Given the description of an element on the screen output the (x, y) to click on. 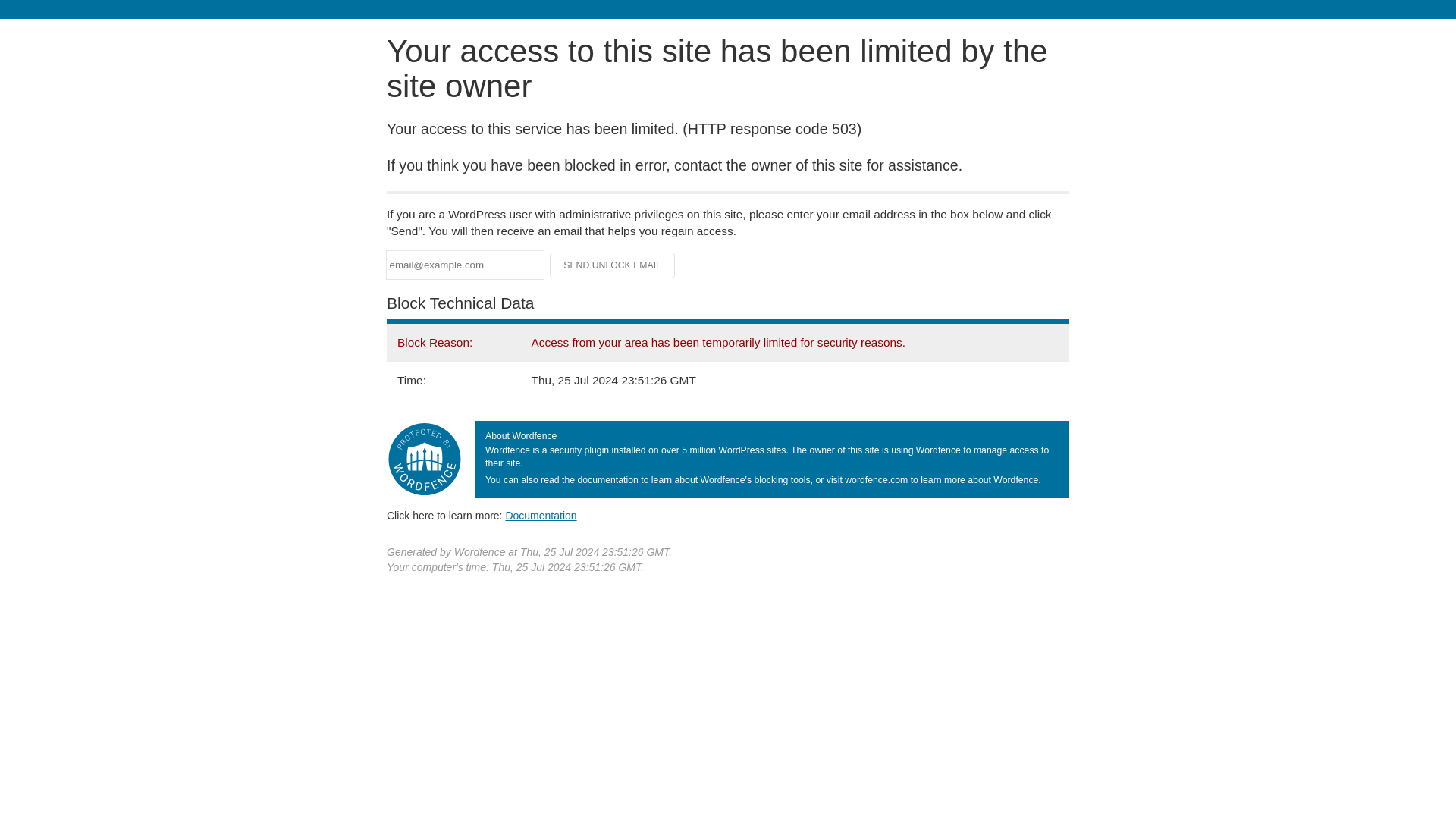
Send Unlock Email (612, 265)
Send Unlock Email (612, 265)
Documentation (540, 515)
